Given the description of an element on the screen output the (x, y) to click on. 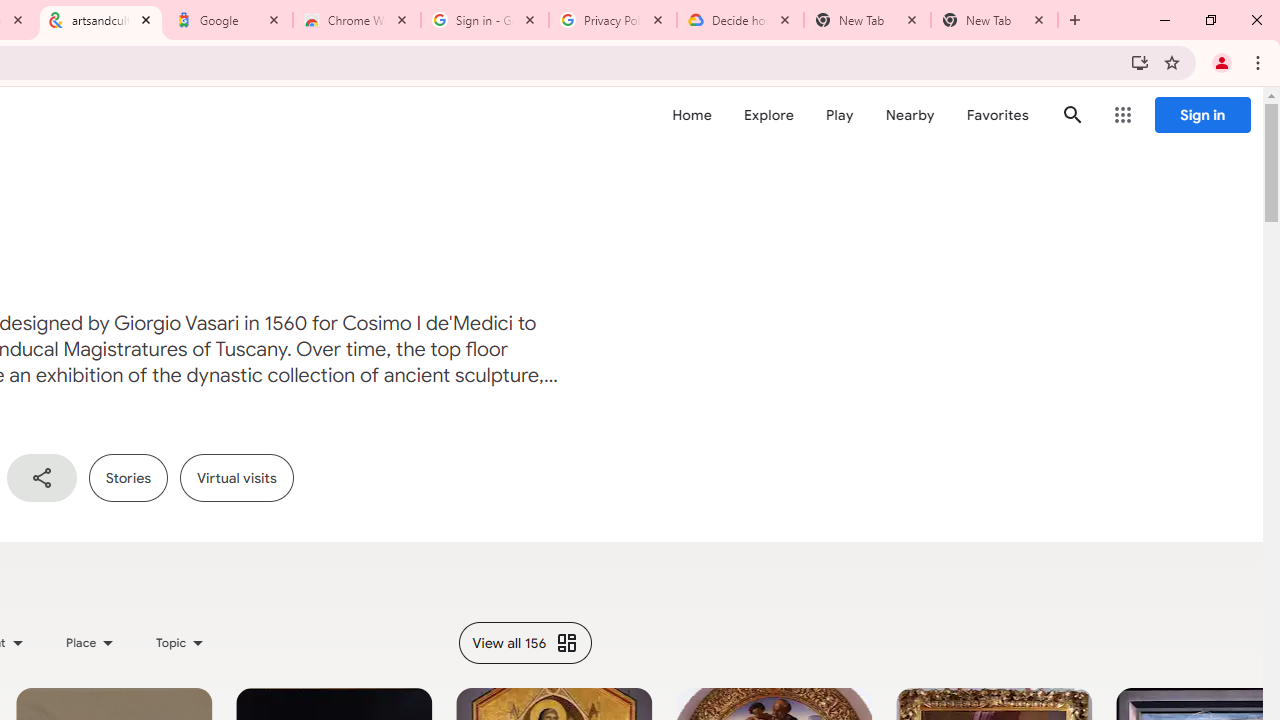
Explore (768, 115)
Chrome Web Store - Color themes by Chrome (357, 20)
Install Google Arts & Culture (1139, 62)
Google (229, 20)
artsandculture.google.com/partner/uffizi-gallery (101, 20)
Sign in - Google Accounts (485, 20)
New Tab (994, 20)
